Given the description of an element on the screen output the (x, y) to click on. 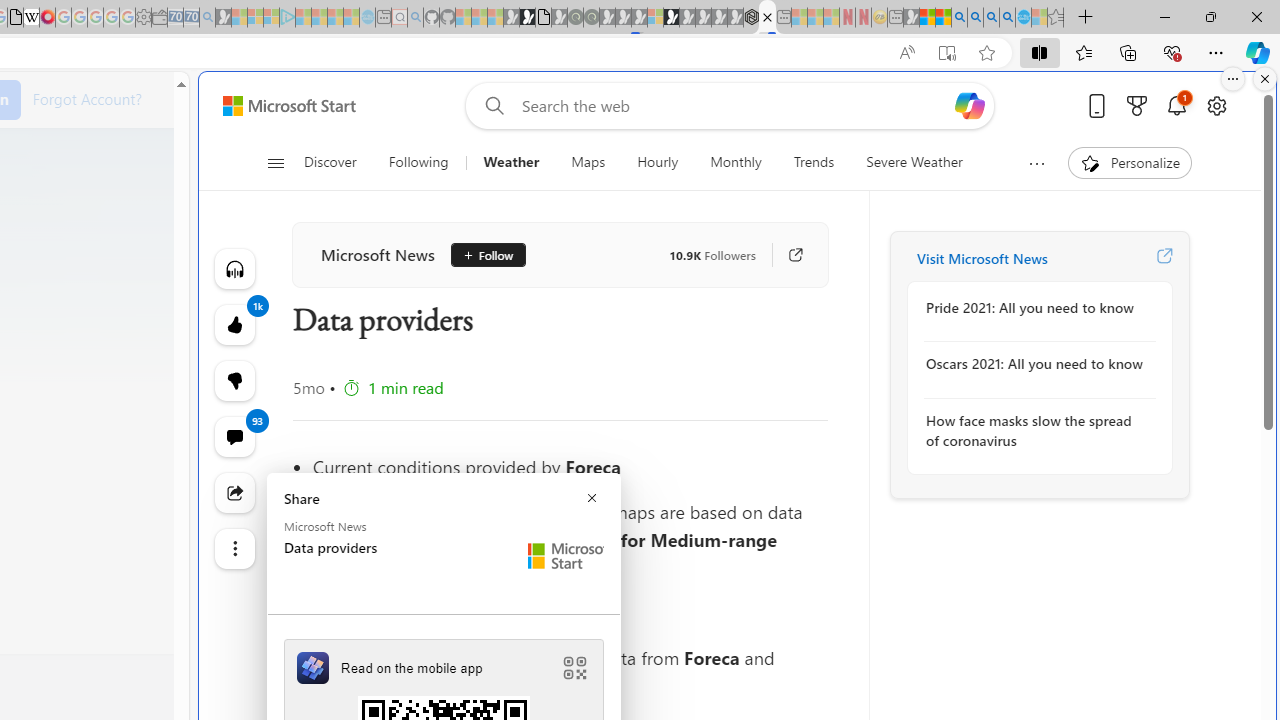
Go to publisher's site (786, 255)
Future Focus Report 2024 - Sleeping (591, 17)
Settings - Sleeping (143, 17)
Hourly (657, 162)
Bing AI - Search (959, 17)
Visit Microsoft News website (1164, 258)
